Given the description of an element on the screen output the (x, y) to click on. 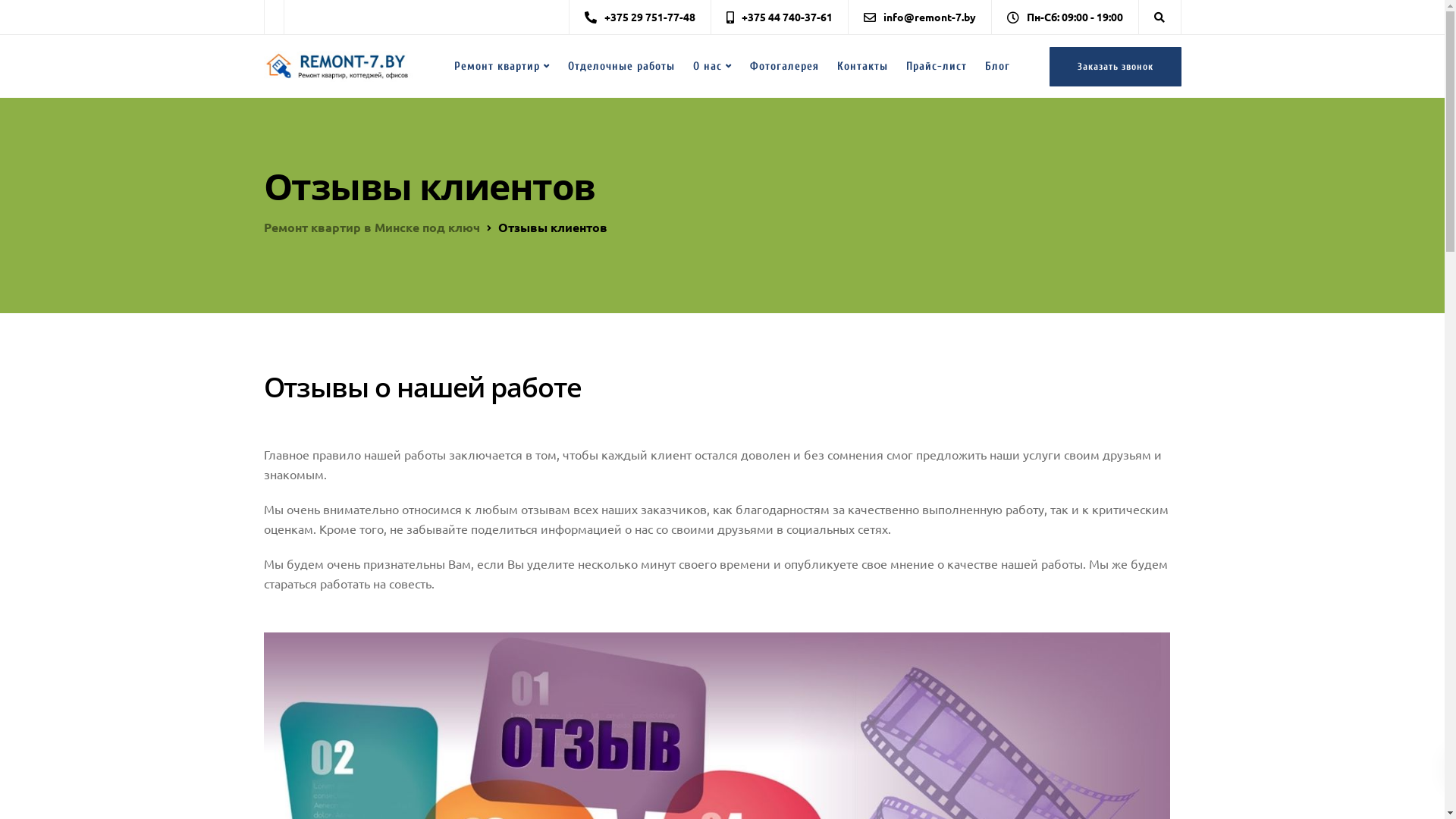
info@remont-7.by Element type: text (932, 16)
BY Webstars Element type: text (871, 790)
+375 29 751-77-48 Element type: text (652, 16)
+375 44 740-37-61 Element type: text (790, 16)
